Given the description of an element on the screen output the (x, y) to click on. 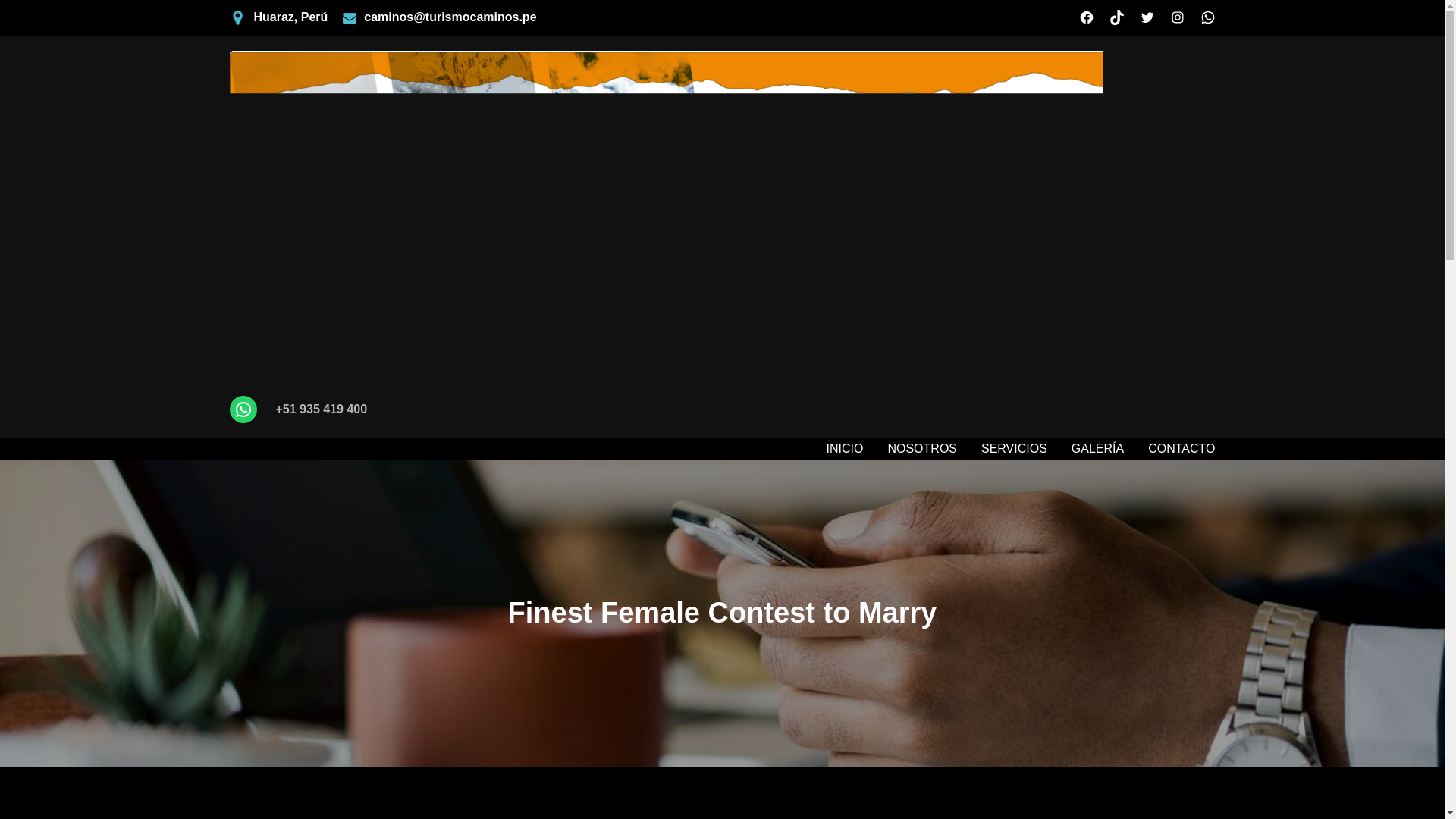
Facebook (1085, 17)
WhatsApp (1206, 17)
CONTACTO (1181, 448)
Twitter (1146, 17)
TikTok (1116, 17)
SERVICIOS (1013, 448)
NOSOTROS (921, 448)
Instagram (1177, 17)
INICIO (845, 448)
